Given the description of an element on the screen output the (x, y) to click on. 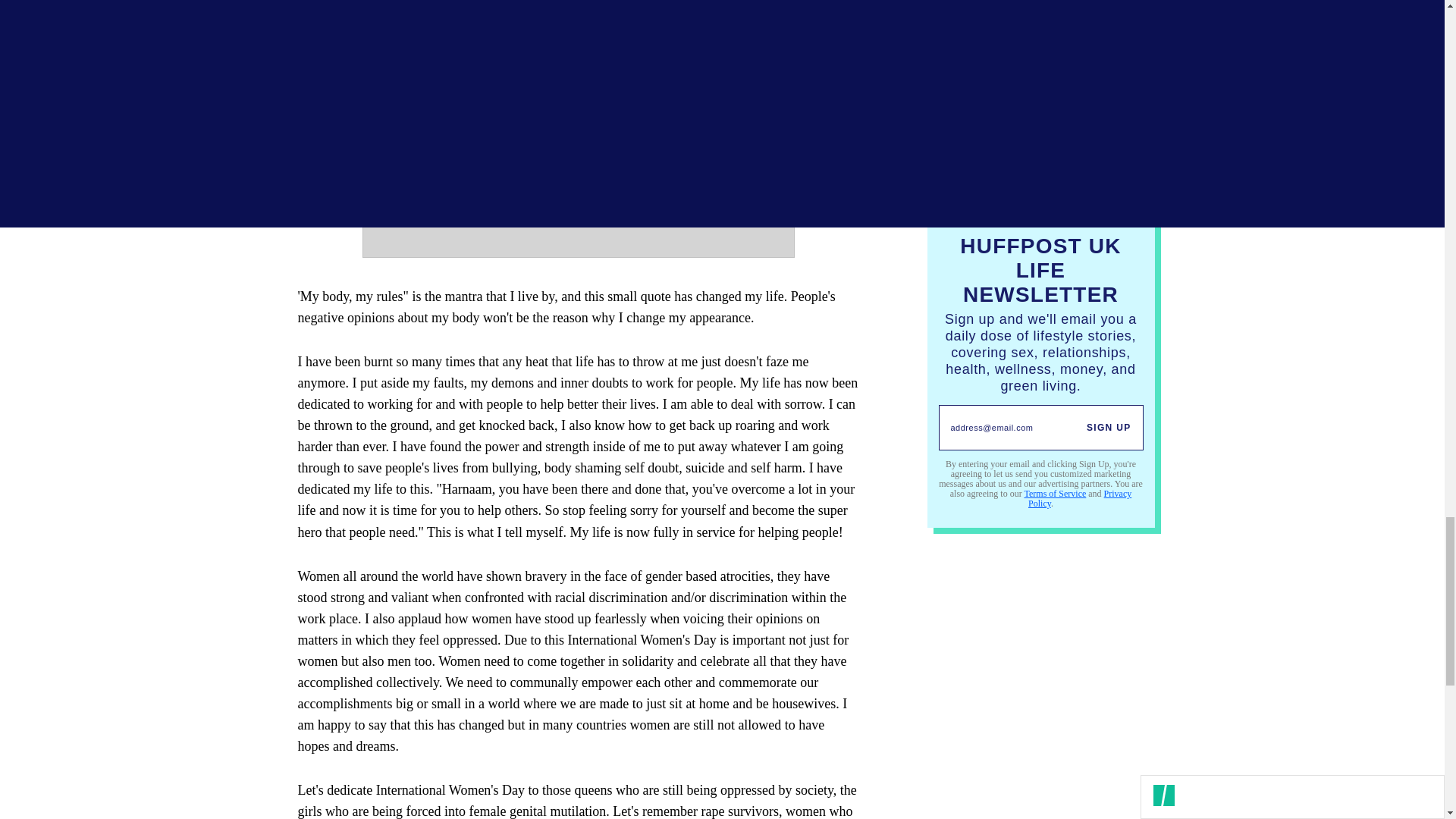
SIGN UP (1108, 427)
